Given the description of an element on the screen output the (x, y) to click on. 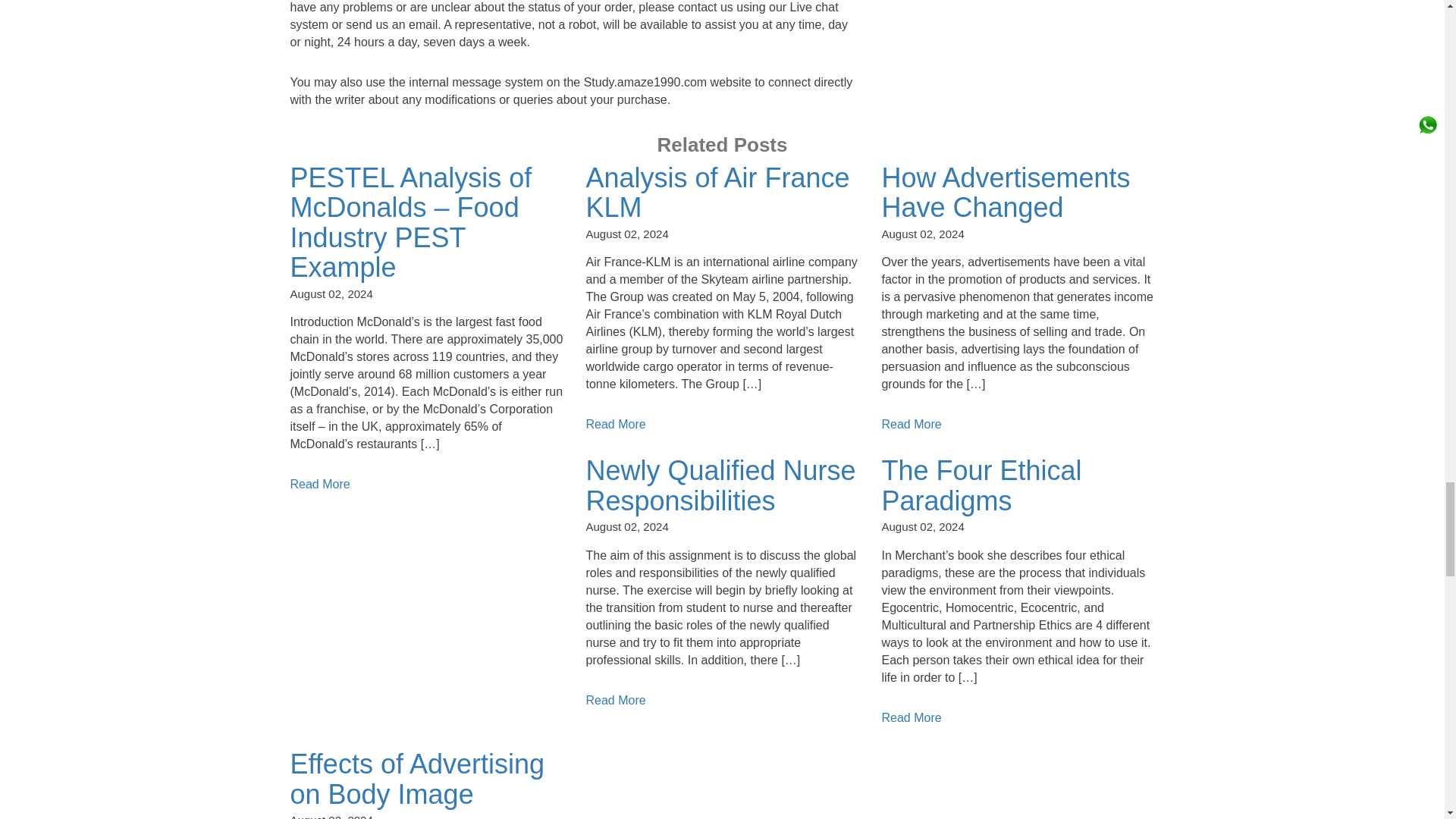
Effects of Advertising on Body Image (416, 778)
The Four Ethical Paradigms (980, 485)
Analysis of Air France KLM (716, 192)
How Advertisements Have Changed (1004, 192)
Newly Qualified Nurse Responsibilities (720, 485)
Read More (615, 699)
Read More (910, 423)
Read More (910, 717)
Read More (319, 483)
Read More (615, 423)
